Given the description of an element on the screen output the (x, y) to click on. 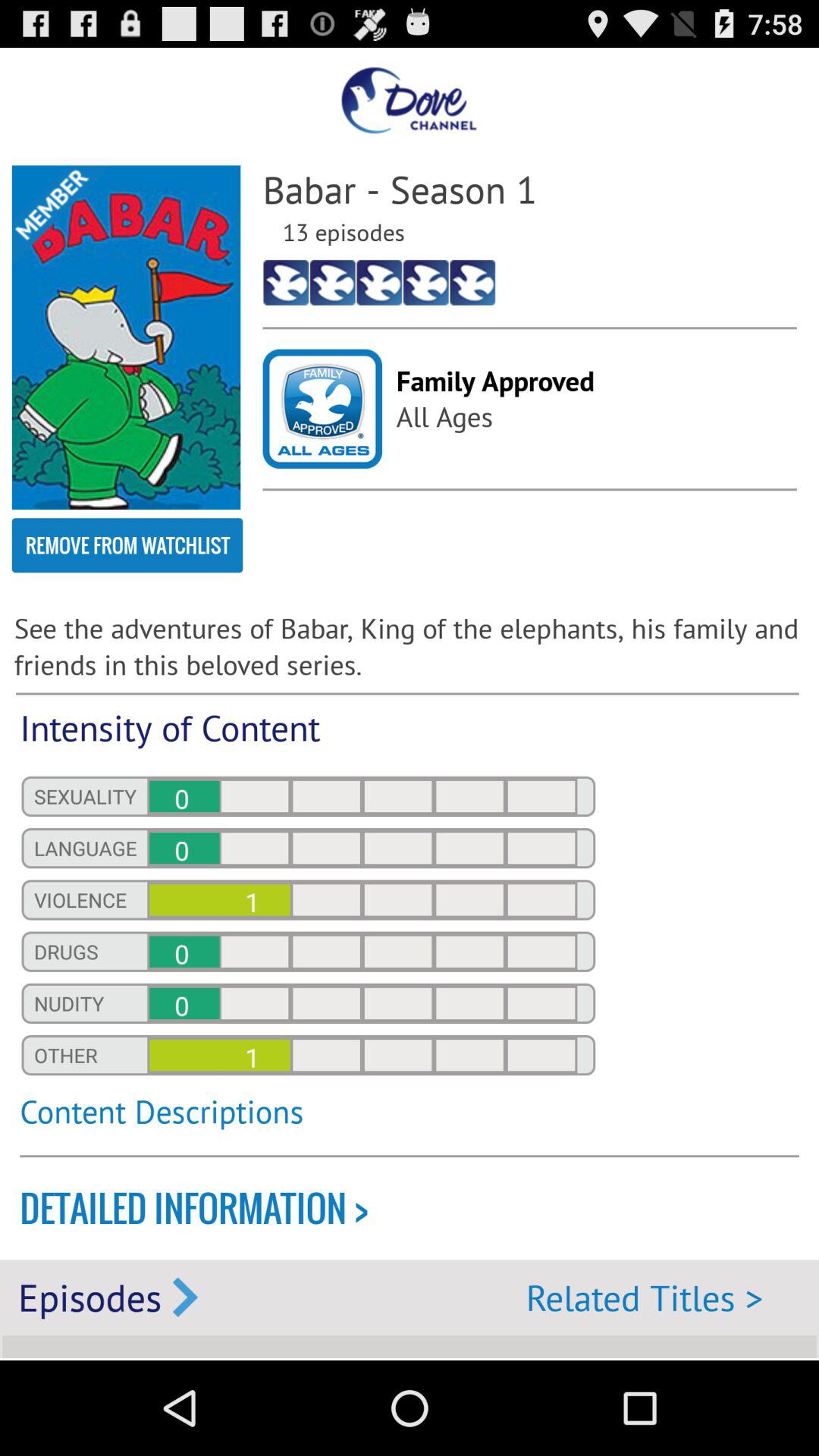
click the app below the other icon (308, 1120)
